Given the description of an element on the screen output the (x, y) to click on. 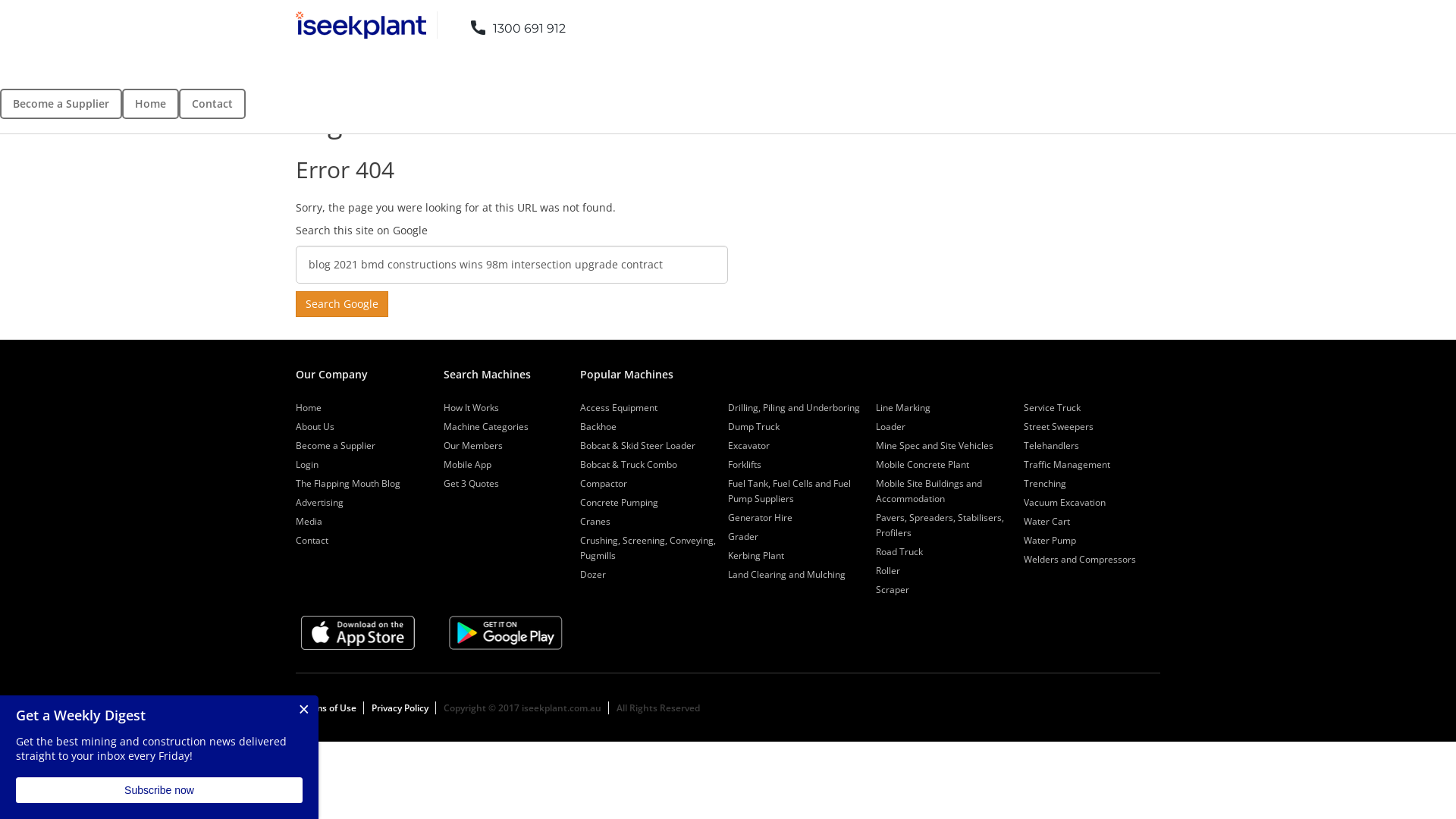
AppStore Element type: hover (357, 632)
About Us Element type: text (314, 426)
Mobile Site Buildings and Accommodation Element type: text (928, 490)
Home Element type: text (150, 103)
Line Marking Element type: text (902, 407)
Kerbing Plant Element type: text (756, 555)
Backhoe Element type: text (598, 426)
Home Element type: text (308, 407)
Forklifts Element type: text (744, 464)
Generator Hire Element type: text (760, 517)
Mobile App Element type: text (467, 464)
The Flapping Mouth Blog Element type: text (347, 482)
Contact Element type: text (311, 539)
Mobile Concrete Plant Element type: text (922, 464)
Grader Element type: text (743, 536)
Roller Element type: text (887, 570)
Dump Truck Element type: text (753, 426)
Login Element type: text (306, 464)
Scraper Element type: text (892, 589)
Our Members Element type: text (472, 445)
Advertising Element type: text (319, 501)
Contact Element type: text (211, 103)
Cranes Element type: text (595, 520)
Terms of Use Element type: text (327, 707)
Subscribe now Element type: text (158, 790)
Road Truck Element type: text (898, 551)
Welders and Compressors Element type: text (1079, 558)
GooglePlay Element type: hover (505, 632)
Water Pump Element type: text (1049, 539)
Land Clearing and Mulching Element type: text (786, 573)
Street Sweepers Element type: text (1058, 426)
Vacuum Excavation Element type: text (1064, 501)
Dozer Element type: text (592, 573)
Become a Supplier Element type: text (61, 103)
Privacy Policy Element type: text (399, 707)
Mine Spec and Site Vehicles Element type: text (934, 445)
Crushing, Screening, Conveying, Pugmills Element type: text (647, 547)
Fuel Tank, Fuel Cells and Fuel Pump Suppliers Element type: text (789, 490)
Concrete Pumping Element type: text (619, 501)
Drilling, Piling and Underboring Element type: text (793, 407)
Trenching Element type: text (1044, 482)
Loader Element type: text (890, 426)
Service Truck Element type: text (1051, 407)
Telehandlers Element type: text (1051, 445)
Machine Categories Element type: text (485, 426)
Bobcat & Truck Combo Element type: text (628, 464)
Become a Supplier Element type: text (335, 445)
Traffic Management Element type: text (1066, 464)
Get 3 Quotes Element type: text (470, 482)
Water Cart Element type: text (1046, 520)
Excavator Element type: text (748, 445)
Access Equipment Element type: text (618, 407)
Search Google Element type: text (341, 303)
Compactor Element type: text (603, 482)
How It Works Element type: text (470, 407)
Bobcat & Skid Steer Loader Element type: text (637, 445)
 1300 691 912 Element type: text (506, 24)
Media Element type: text (308, 520)
Pavers, Spreaders, Stabilisers, Profilers Element type: text (939, 525)
